Given the description of an element on the screen output the (x, y) to click on. 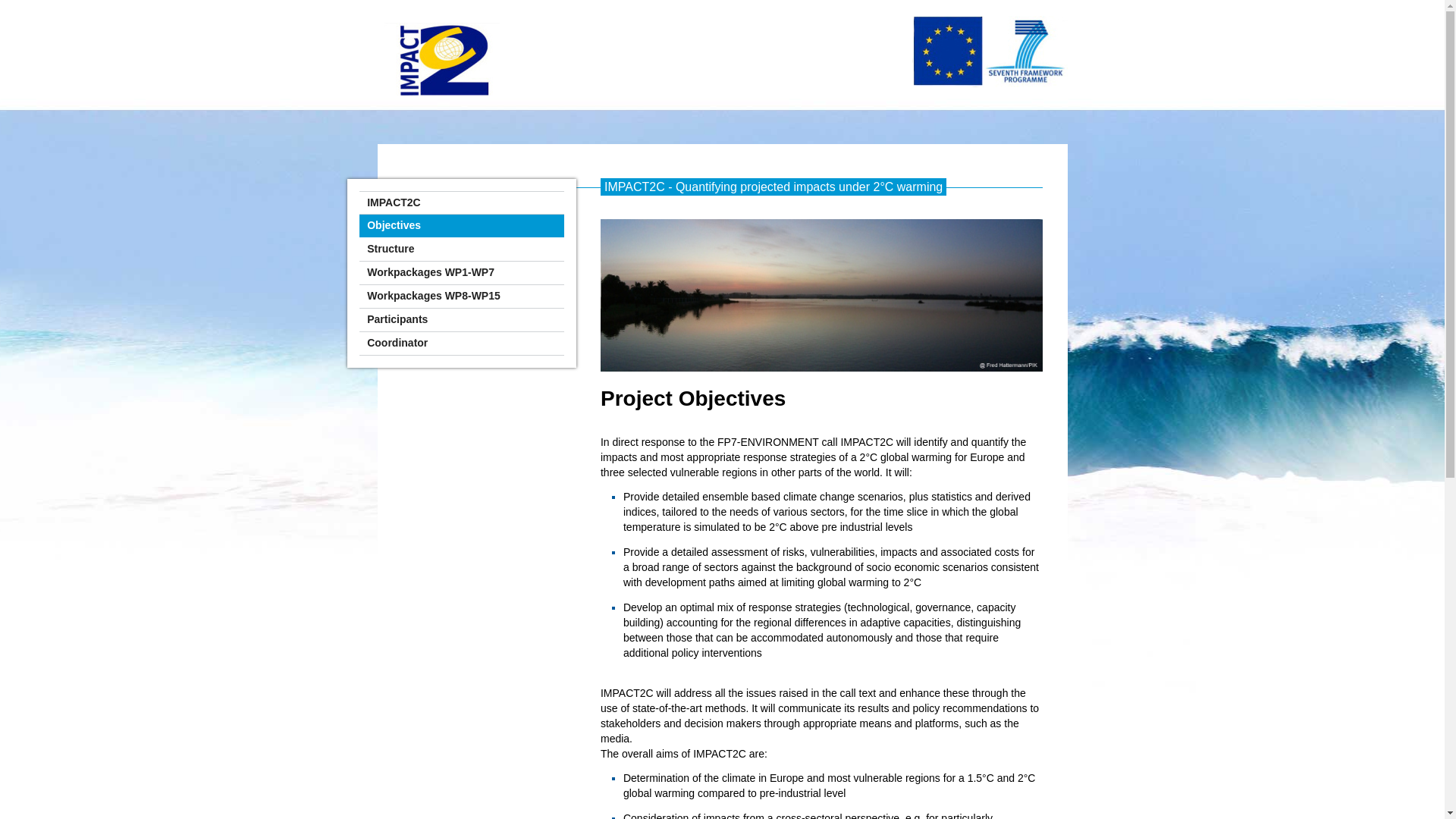
Objectives (461, 226)
Workpackages WP1-WP7 (461, 273)
IMPACT2C (461, 202)
Workpackages WP8-WP15 (461, 296)
Coordinator (461, 343)
Participants (461, 320)
Structure (461, 249)
